Given the description of an element on the screen output the (x, y) to click on. 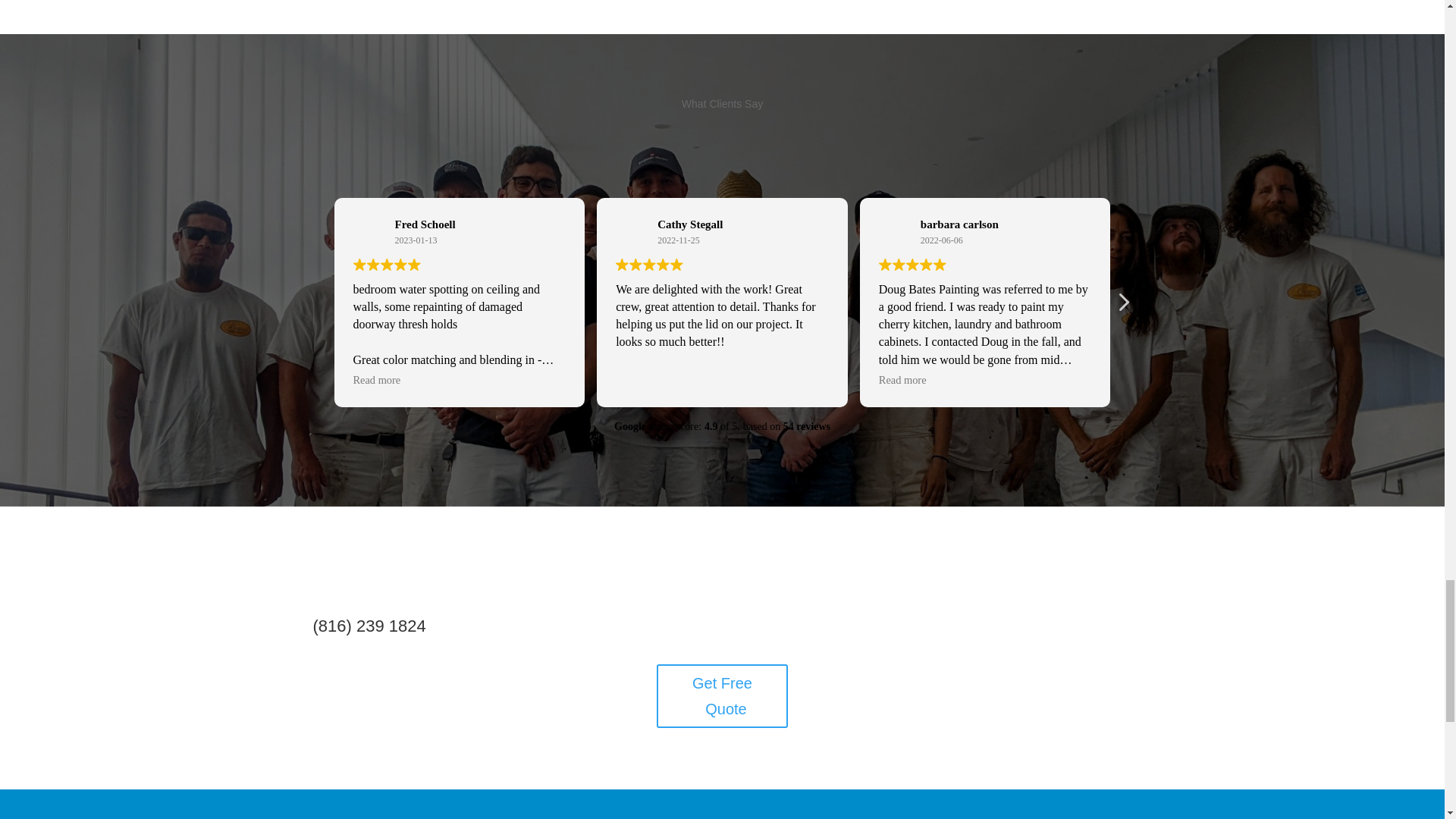
Interior Painting Services in Kansas City, MO 11 (630, 232)
Interior Painting Services in Kansas City, MO 10 (368, 232)
Get Free Quote (721, 696)
